Given the description of an element on the screen output the (x, y) to click on. 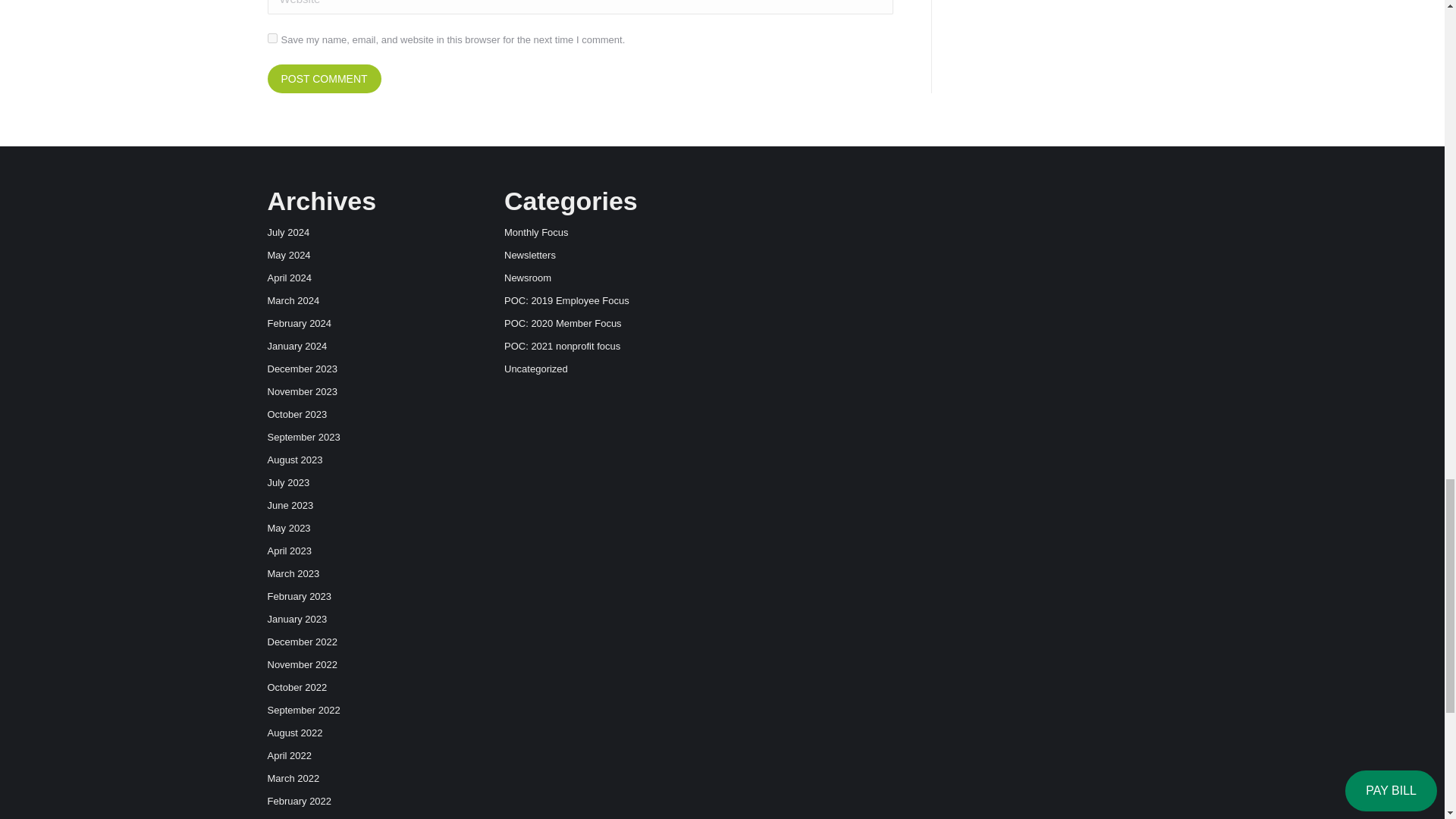
yes (271, 38)
